Given the description of an element on the screen output the (x, y) to click on. 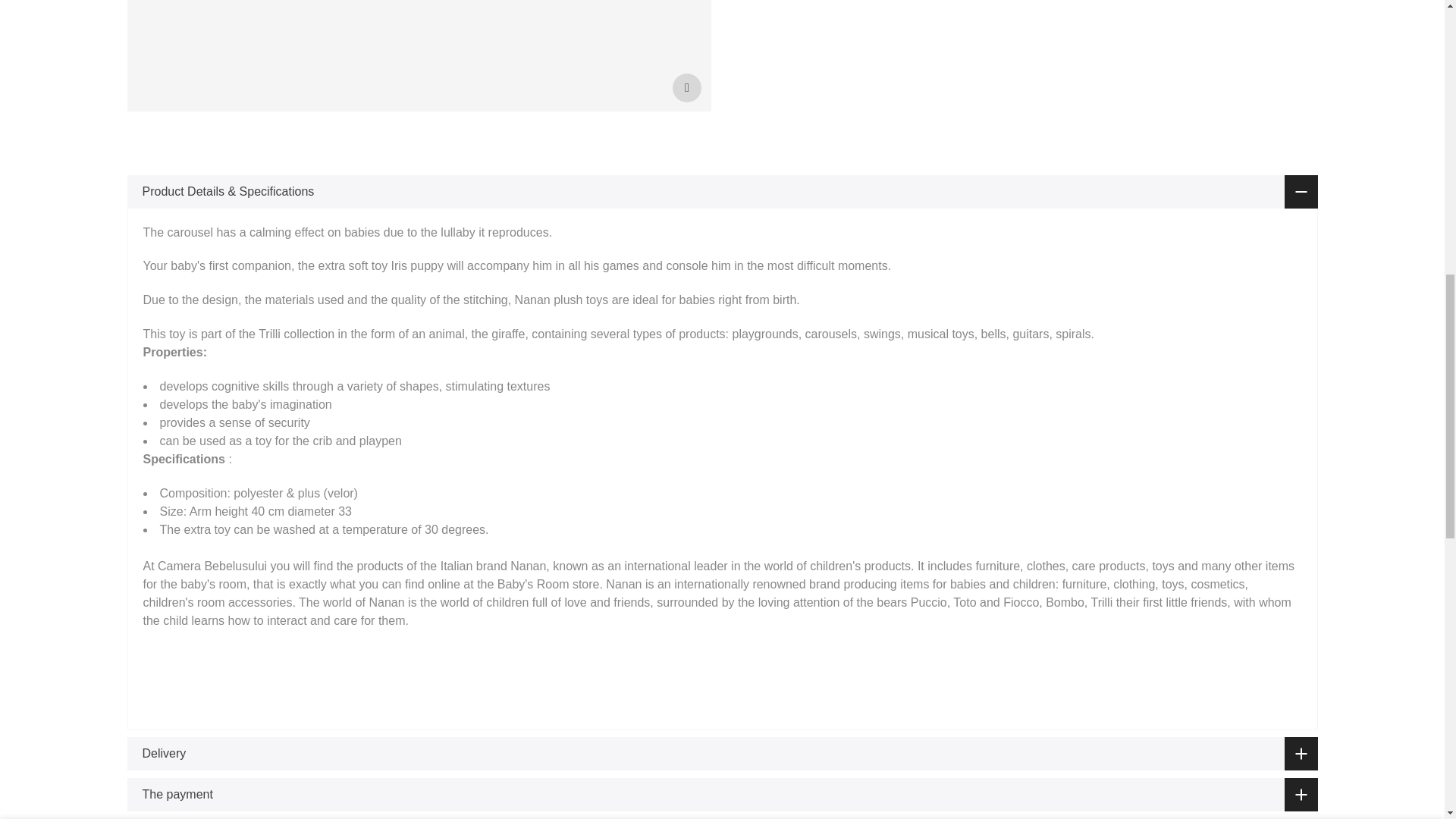
1 (1153, 35)
Delivery (722, 753)
The payment (722, 794)
